Given the description of an element on the screen output the (x, y) to click on. 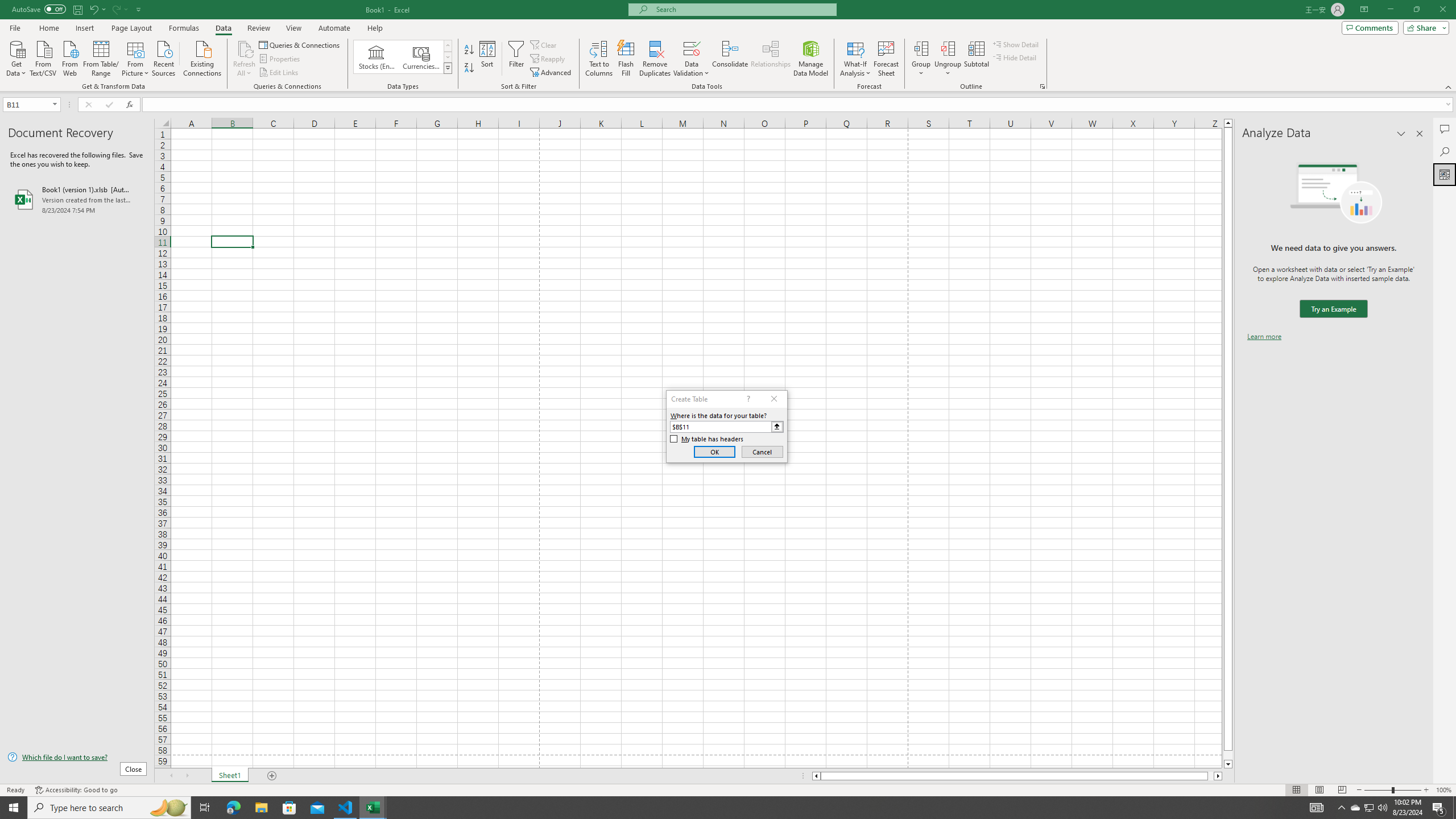
Relationships (770, 58)
Manage Data Model (810, 58)
Sort Z to A (469, 67)
From Picture (135, 57)
Show Detail (1016, 44)
Which file do I want to save? (77, 757)
Search (1444, 151)
Clear (544, 44)
